Given the description of an element on the screen output the (x, y) to click on. 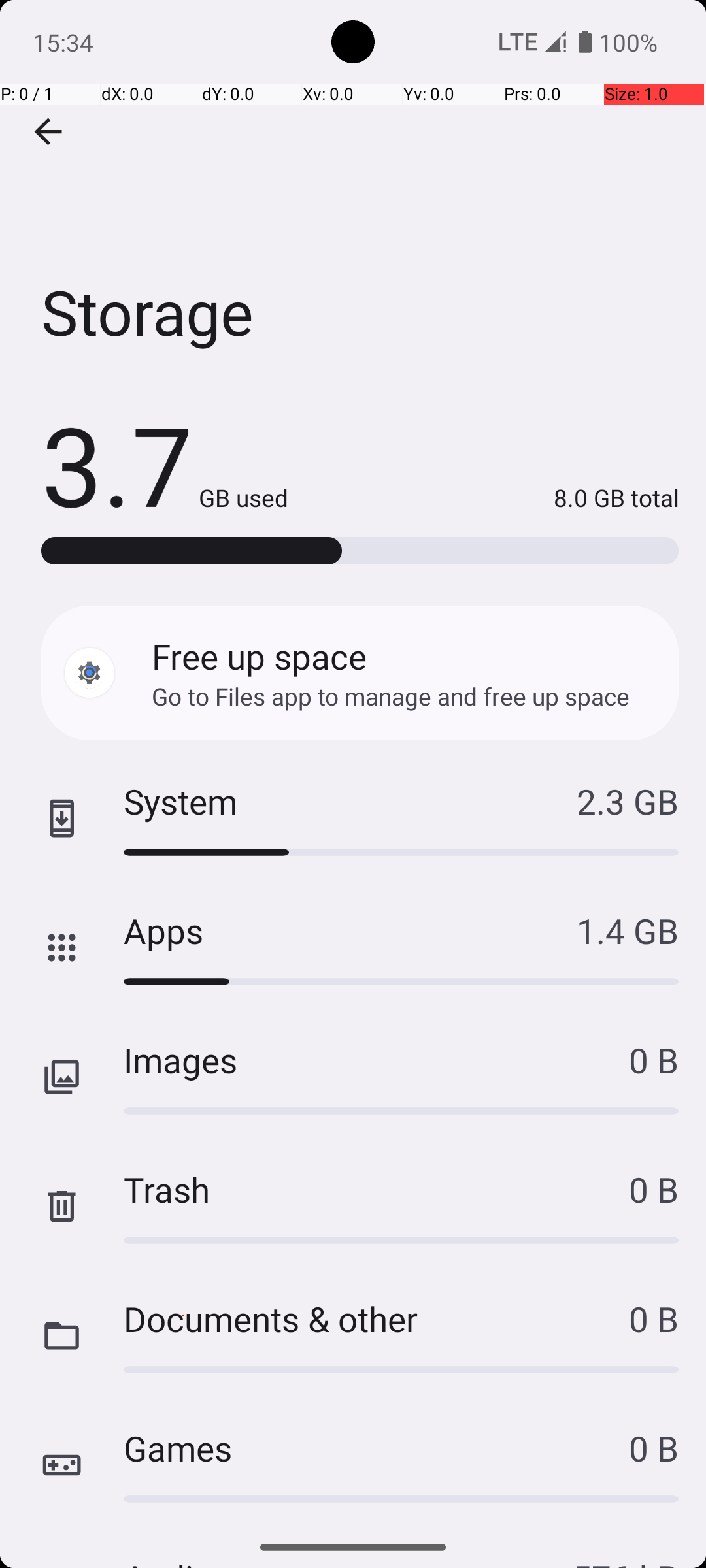
3.7 GB used Element type: android.widget.TextView (164, 463)
2.3 GB Element type: android.widget.TextView (627, 801)
1.4 GB Element type: android.widget.TextView (627, 930)
